Given the description of an element on the screen output the (x, y) to click on. 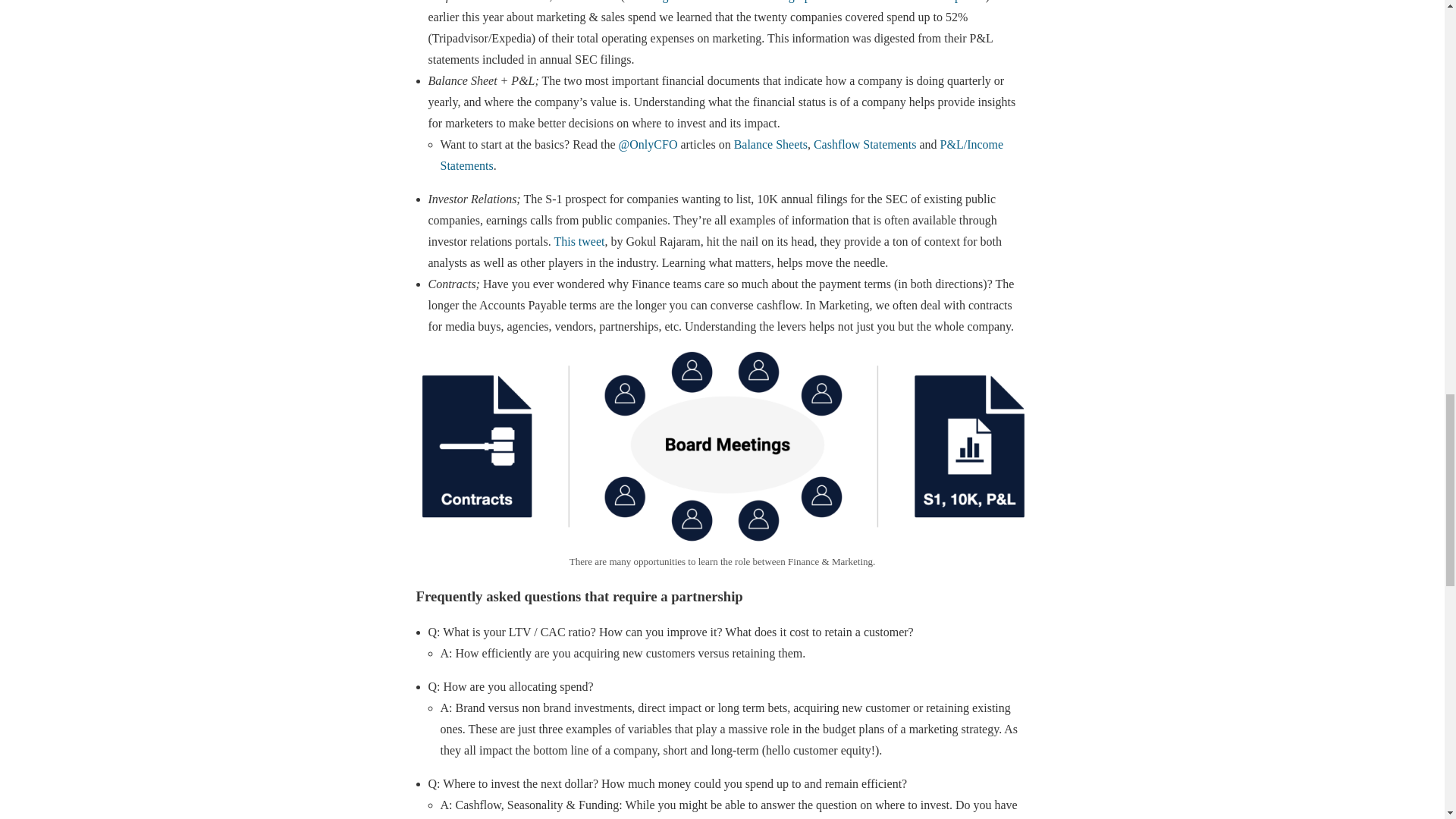
Balance Sheets (770, 144)
Cashflow Statements (865, 144)
This tweet (578, 241)
